Given the description of an element on the screen output the (x, y) to click on. 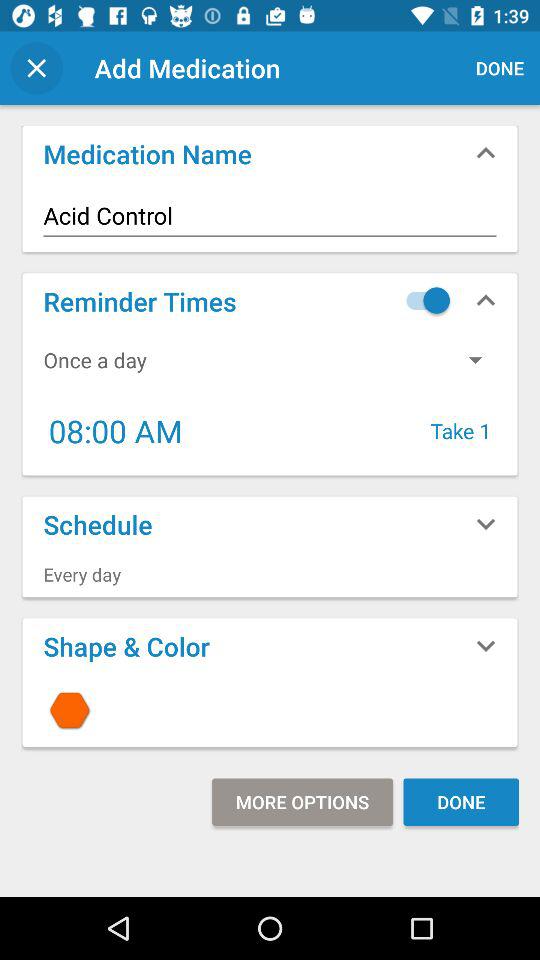
click item to the right of the reminder times item (423, 300)
